Given the description of an element on the screen output the (x, y) to click on. 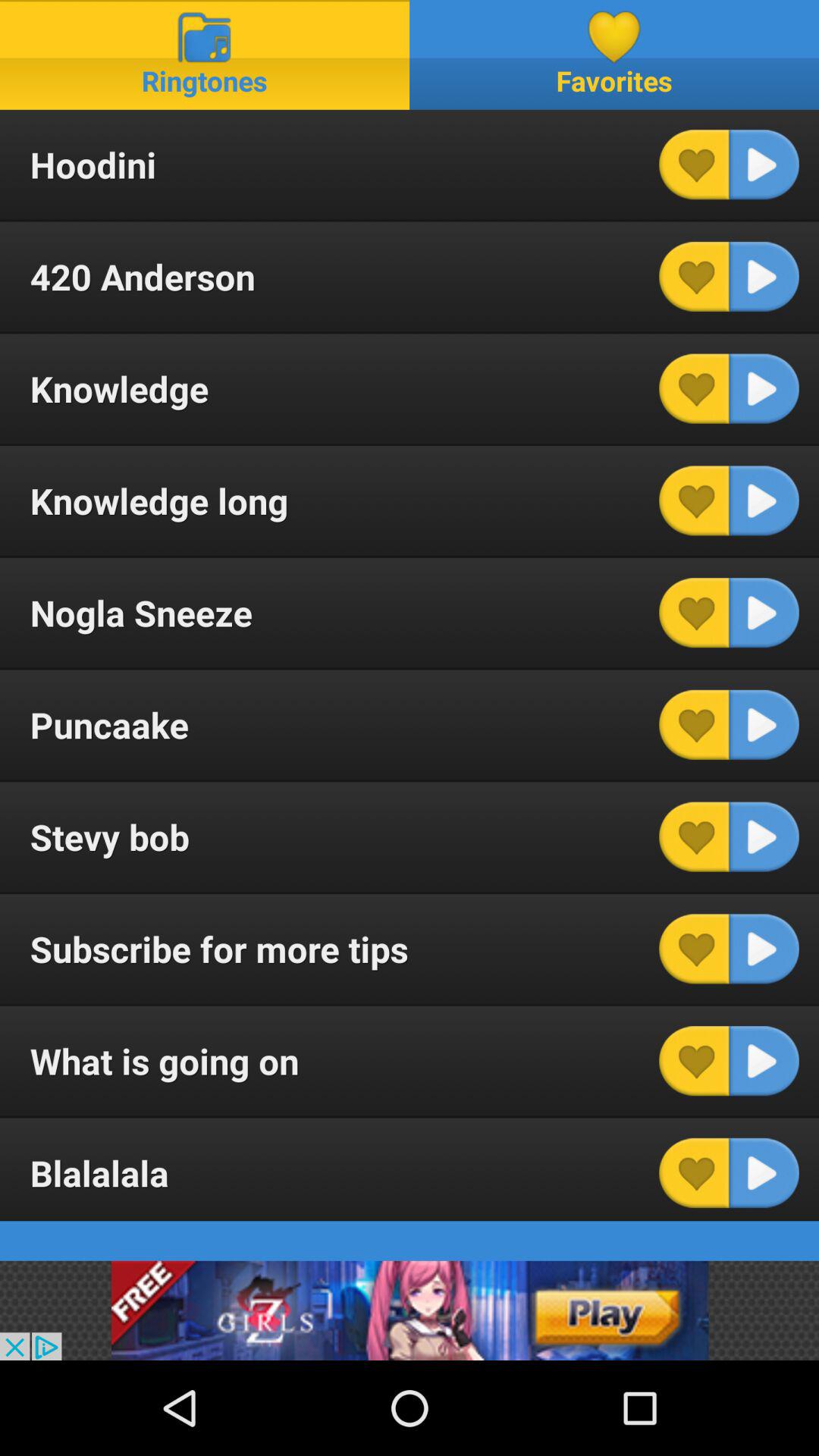
play ringtone (764, 724)
